Given the description of an element on the screen output the (x, y) to click on. 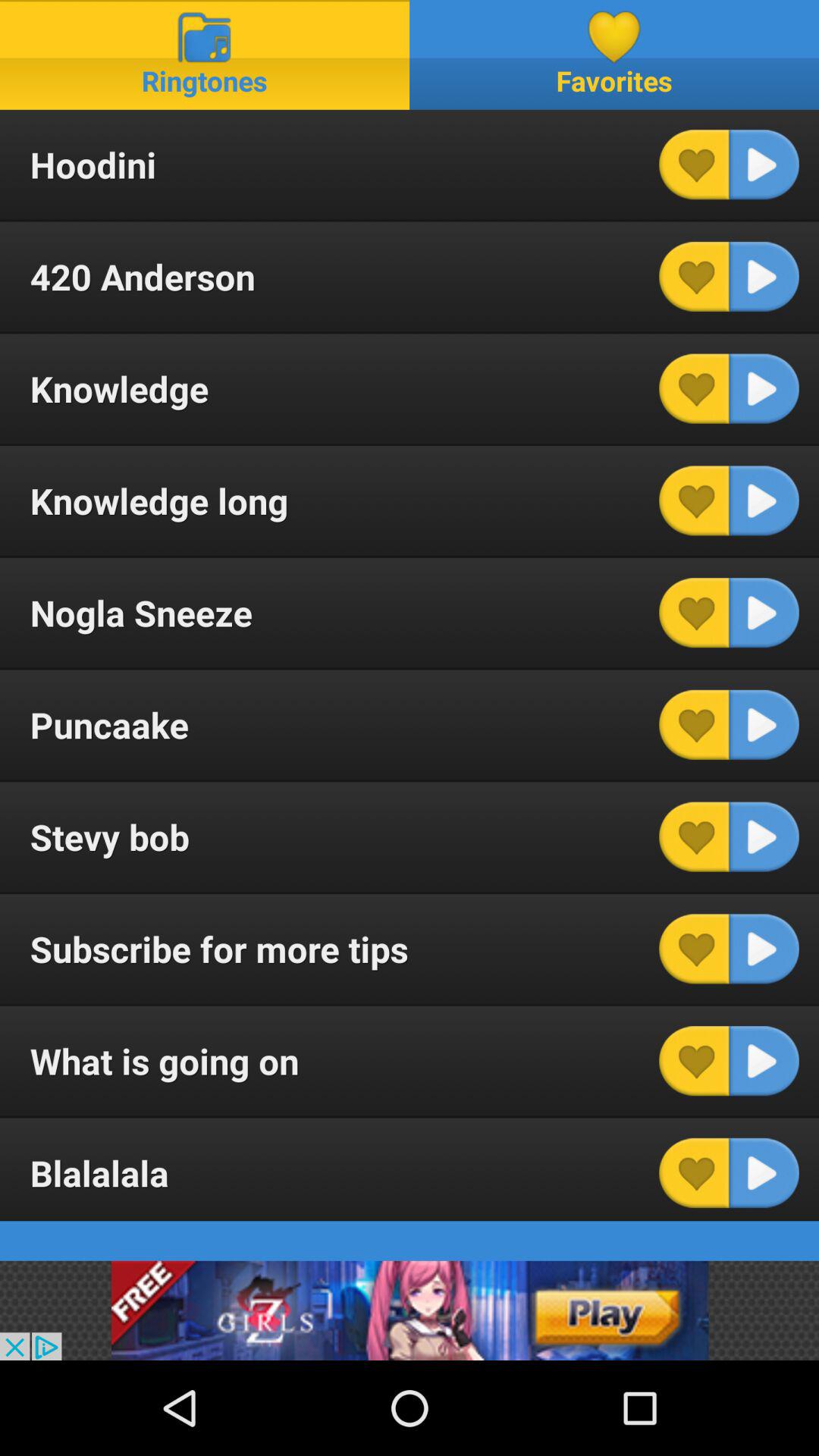
play ringtone (764, 724)
